Given the description of an element on the screen output the (x, y) to click on. 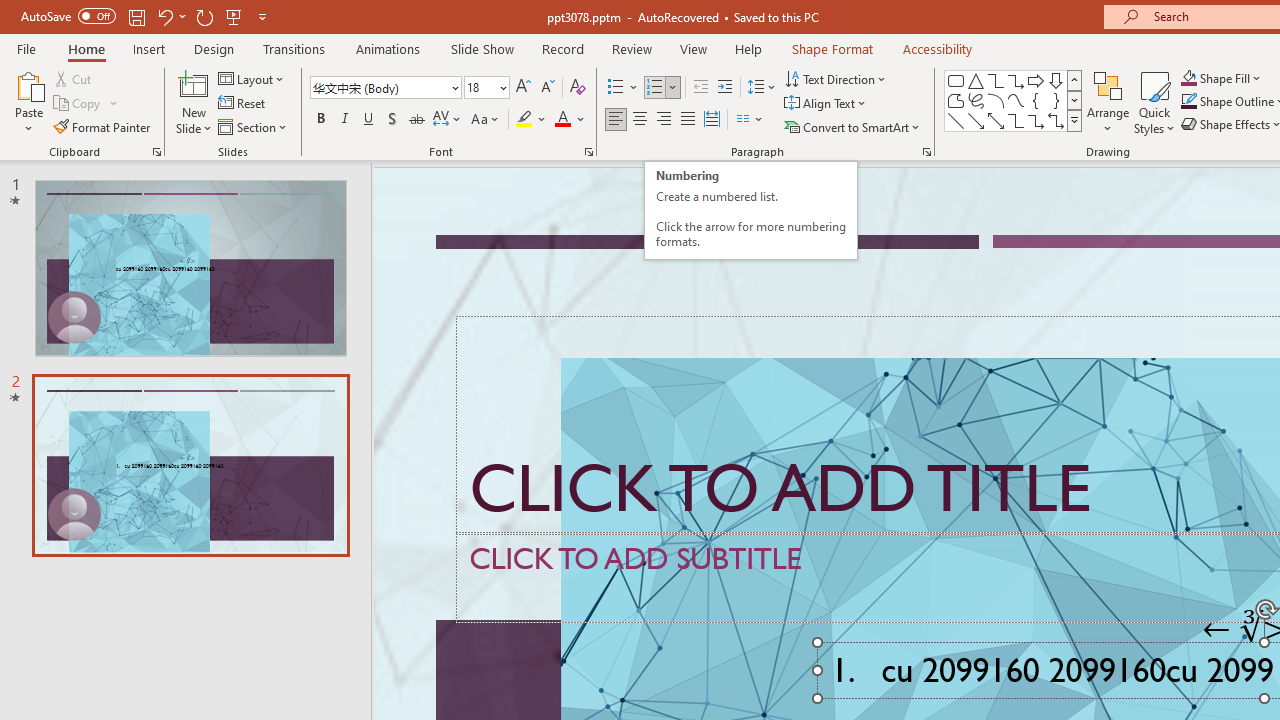
Curve (1016, 100)
Arrow: Right (1035, 80)
Text Highlight Color (531, 119)
Left Brace (1035, 100)
Align Text (826, 103)
Right Brace (1055, 100)
AutomationID: ShapesInsertGallery (1014, 100)
Connector: Elbow Double-Arrow (1055, 120)
